Given the description of an element on the screen output the (x, y) to click on. 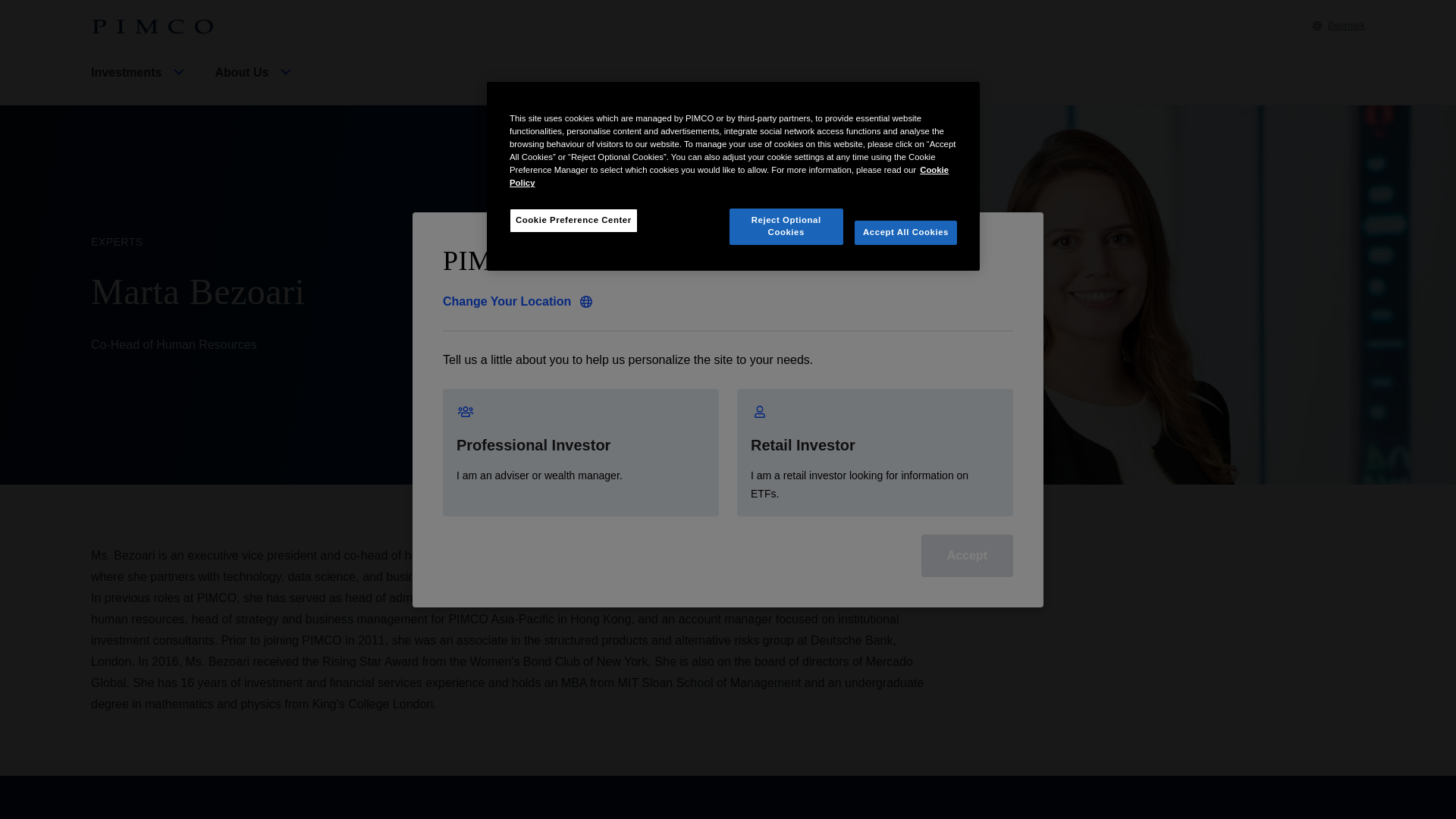
Investments (140, 84)
Change Your Location (517, 301)
PIMCO Home (152, 27)
About Us (255, 84)
Denmark (1339, 25)
